Given the description of an element on the screen output the (x, y) to click on. 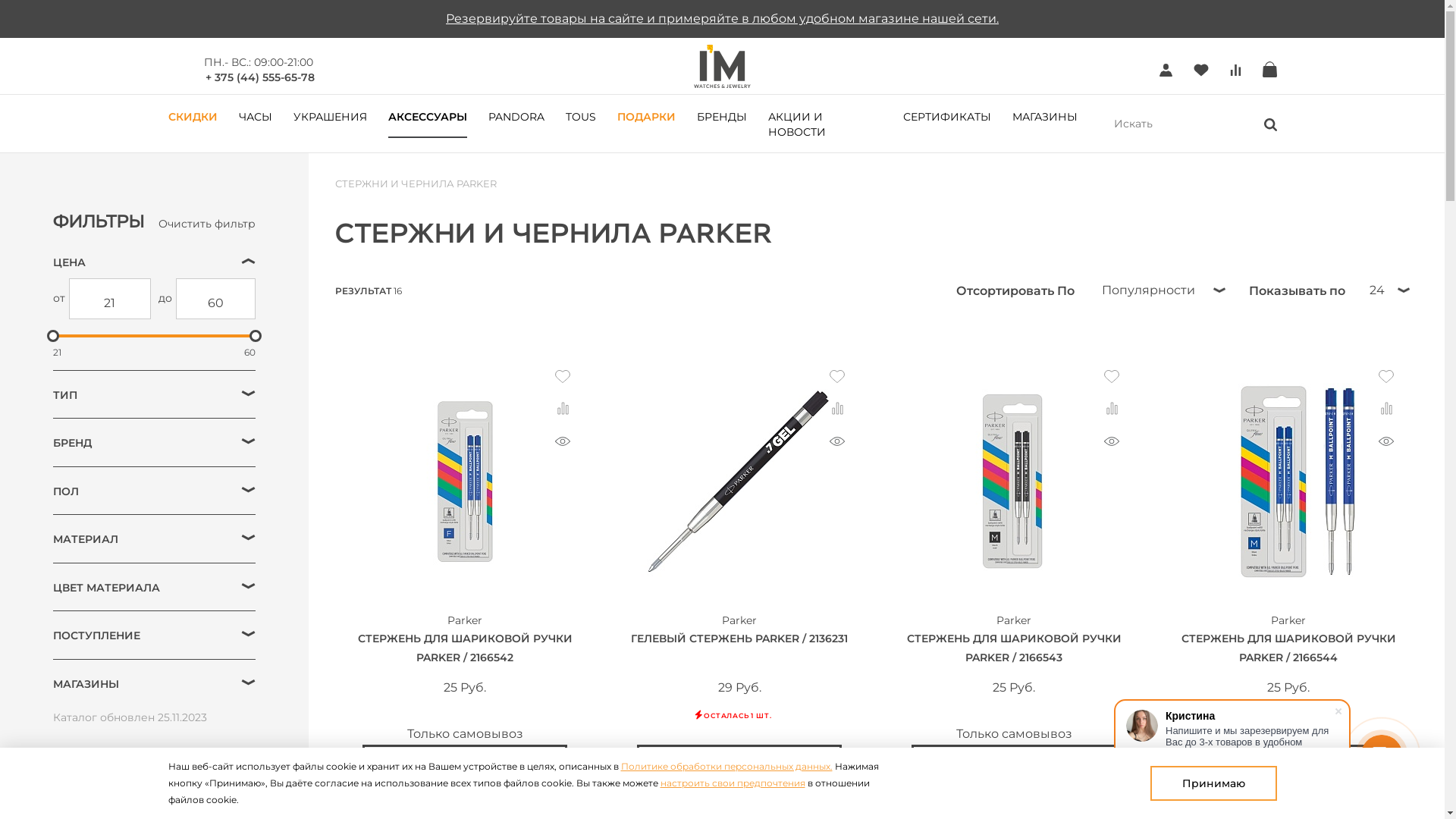
PANDORA Element type: text (516, 115)
TOUS Element type: text (580, 115)
+ 375 (44) 555-65-78 Element type: text (258, 76)
